Given the description of an element on the screen output the (x, y) to click on. 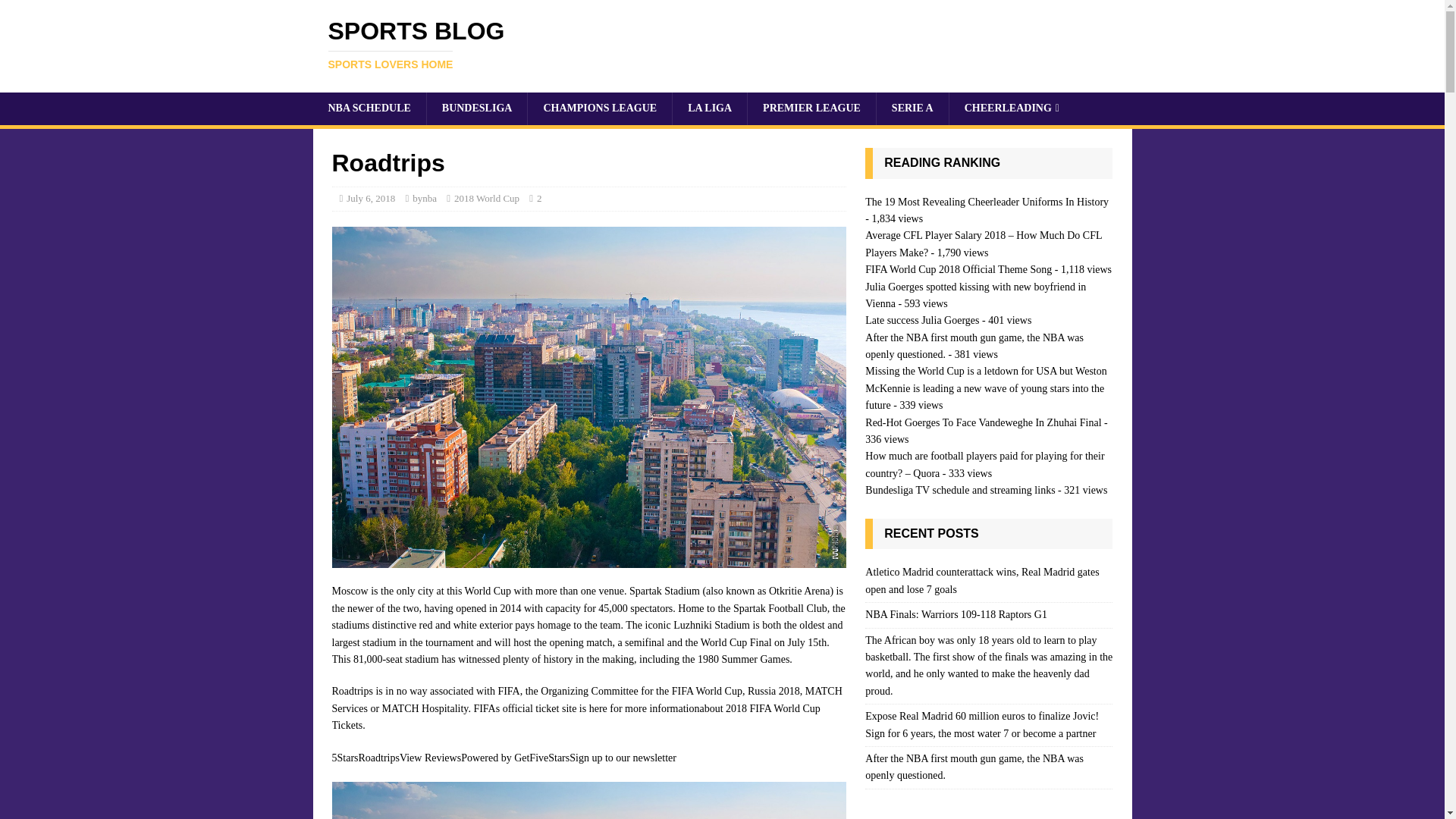
FIFA World Cup 2018 Official Theme Song (957, 269)
Bundesliga TV schedule and streaming links (721, 44)
Julia Goerges spotted kissing with new boyfriend in Vienna (959, 490)
BUNDESLIGA (975, 295)
CHEERLEADING (476, 108)
Julia Goerges spotted kissing with new boyfriend in Vienna (1011, 108)
CHAMPIONS LEAGUE (975, 295)
